Given the description of an element on the screen output the (x, y) to click on. 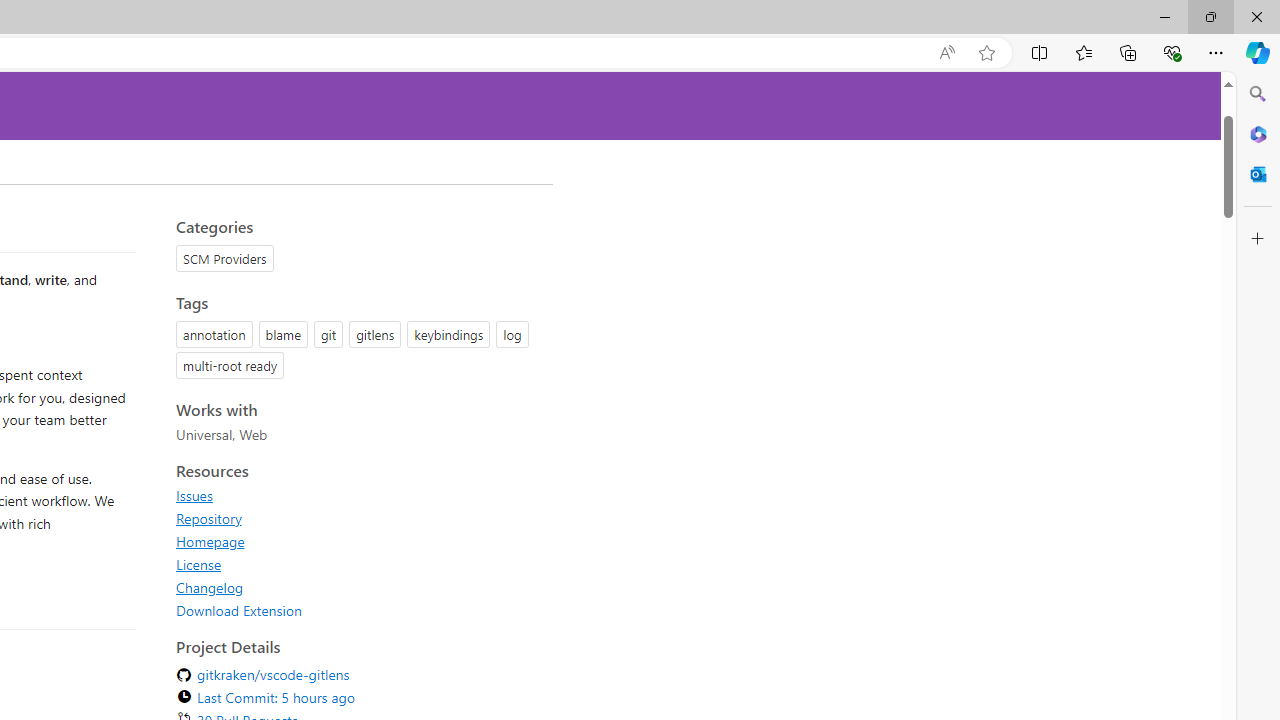
Issues (194, 495)
License (198, 564)
License (358, 564)
Changelog (358, 587)
Repository (358, 518)
